Given the description of an element on the screen output the (x, y) to click on. 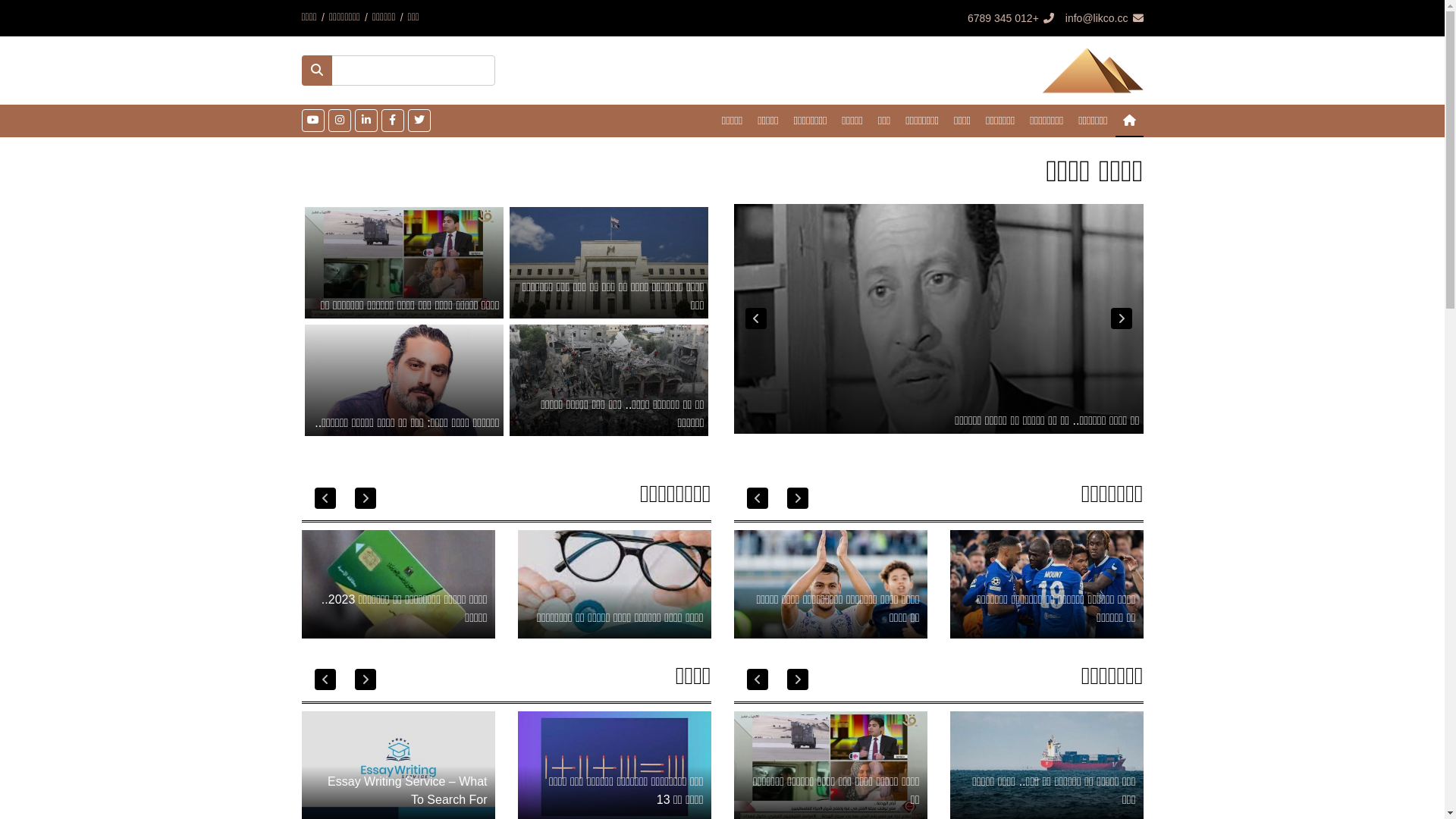
Next Element type: text (797, 497)
Previous Element type: text (756, 679)
Previous Element type: text (324, 679)
Next Element type: text (365, 679)
Next Element type: text (365, 497)
Previous Element type: text (756, 497)
Next Element type: text (797, 679)
Previous Element type: text (1120, 318)
Previous Element type: text (324, 497)
Next Element type: text (754, 318)
